Given the description of an element on the screen output the (x, y) to click on. 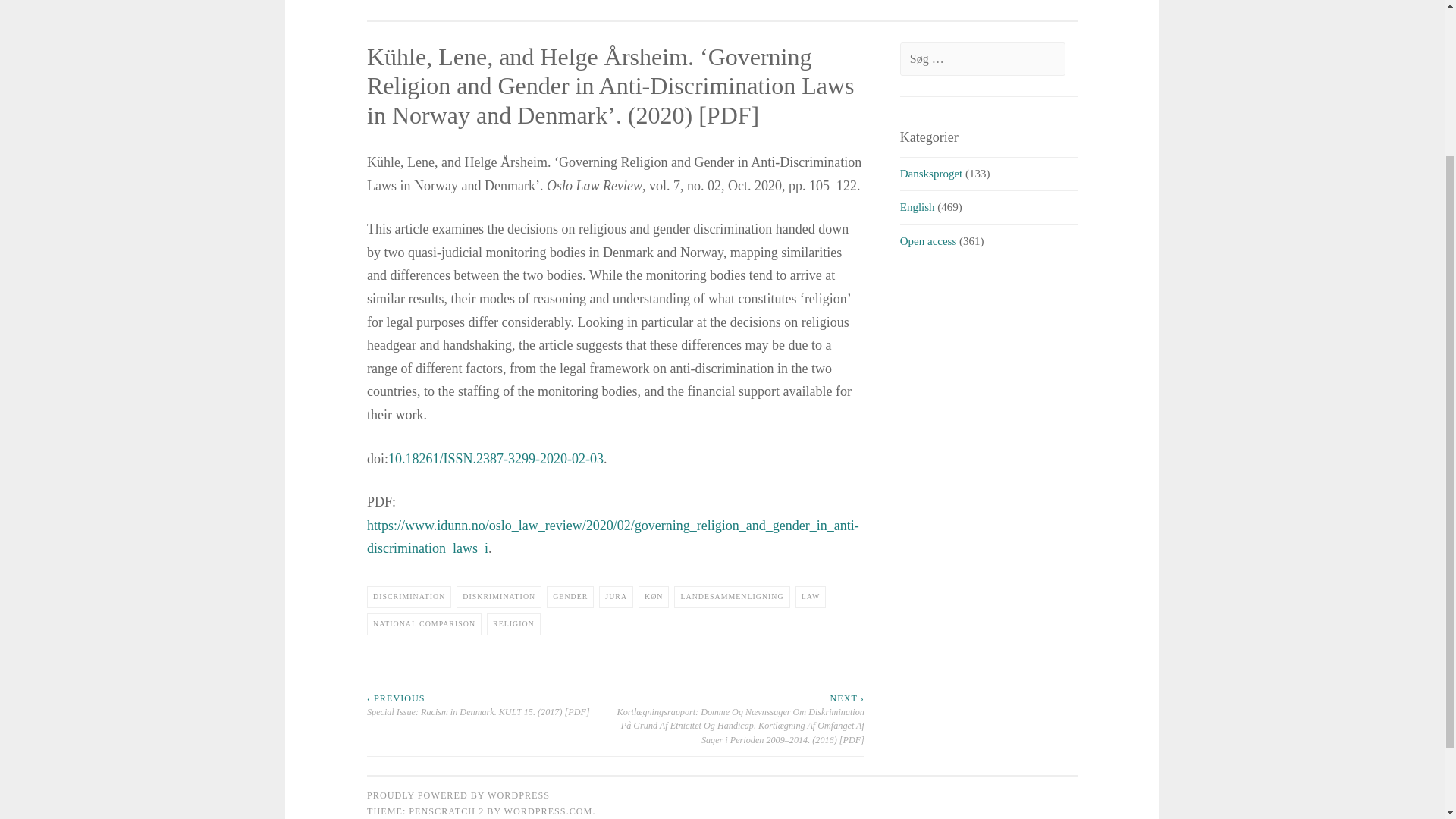
LAW (810, 597)
ENGLISH (915, 0)
GUIDE (583, 0)
GENDER (570, 597)
Dansksproget (930, 173)
Open access (927, 241)
NATIONAL COMPARISON (423, 624)
OM OS (793, 0)
PROUDLY POWERED BY WORDPRESS (458, 795)
English (916, 206)
FORSIDE (528, 0)
WORDPRESS.COM (547, 810)
KONTAKT (852, 0)
RELIGION (513, 624)
JURA (615, 597)
